Given the description of an element on the screen output the (x, y) to click on. 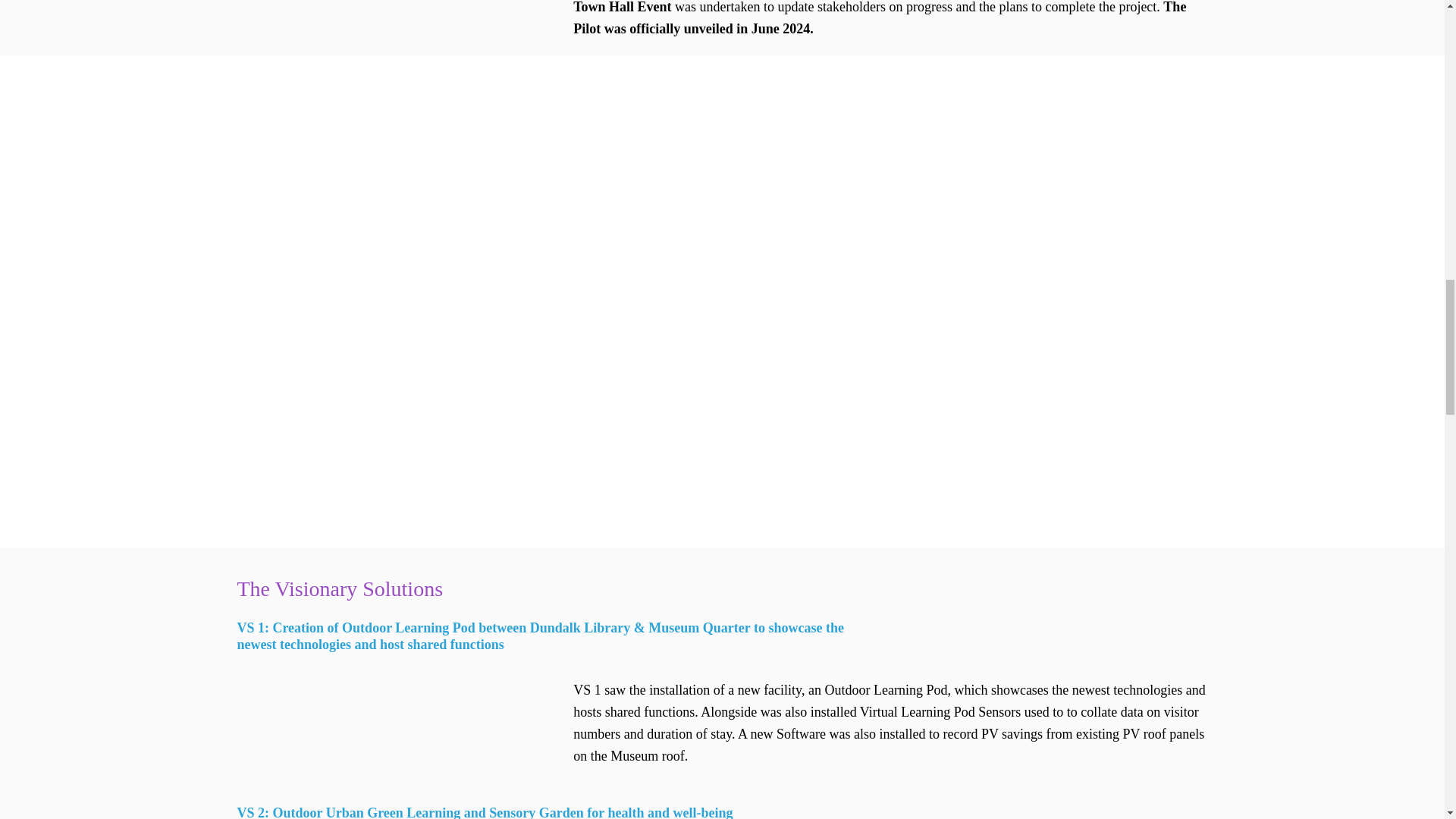
dundalk-pilot2 (404, 7)
